Given the description of an element on the screen output the (x, y) to click on. 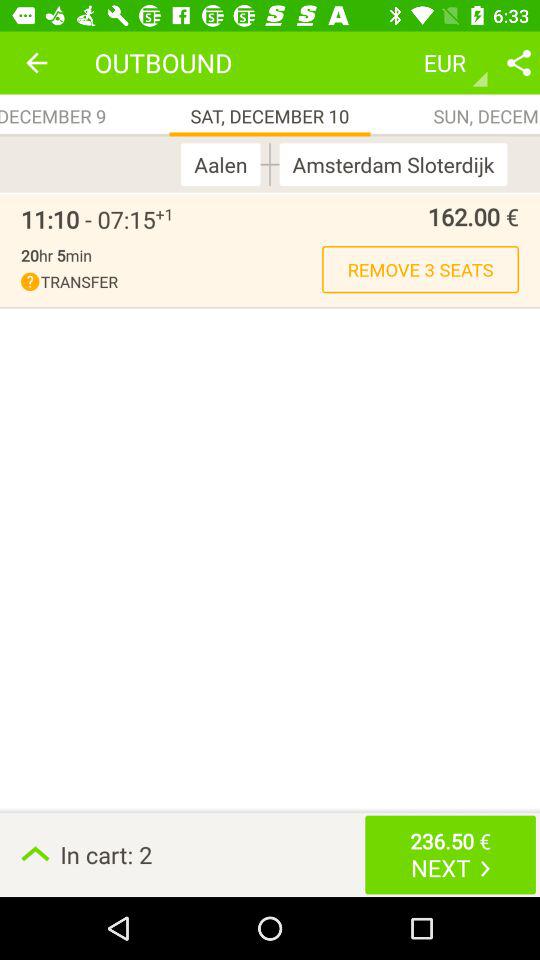
press the 11 10 07 icon (88, 219)
